Given the description of an element on the screen output the (x, y) to click on. 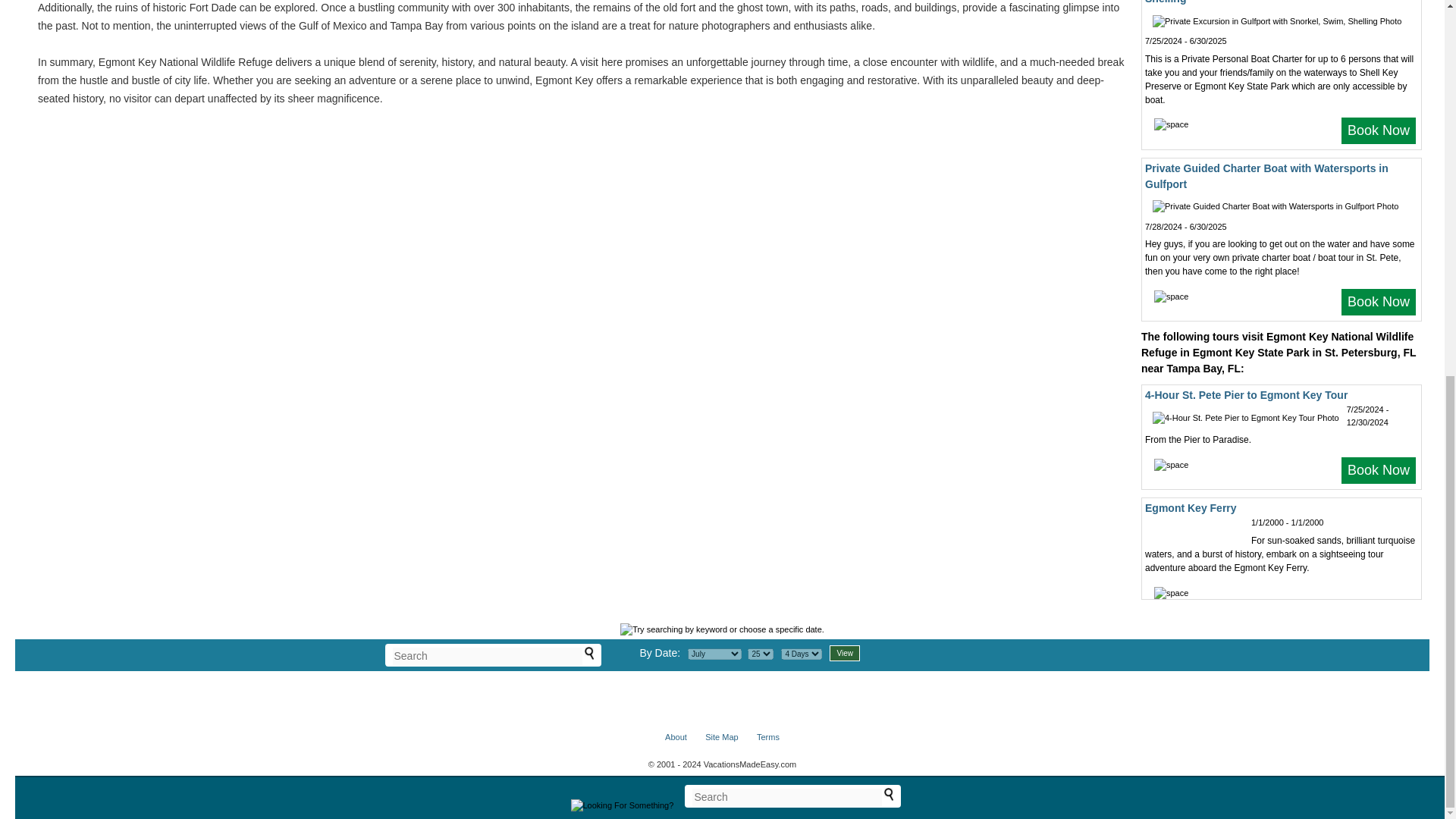
View (844, 652)
Terms (767, 737)
Private Guided Charter Boat with Watersports in Gulfport (1266, 176)
4-Hour St. Pete Pier to Egmont Key Tour (1246, 395)
Egmont Key Ferry (1190, 508)
Book Now (1378, 302)
Site Map (721, 737)
About (676, 737)
Book Now (1378, 130)
View (844, 652)
Book Now (1378, 470)
Private Excursion in Gulfport with Snorkel, Swim, Shelling (1269, 2)
